Given the description of an element on the screen output the (x, y) to click on. 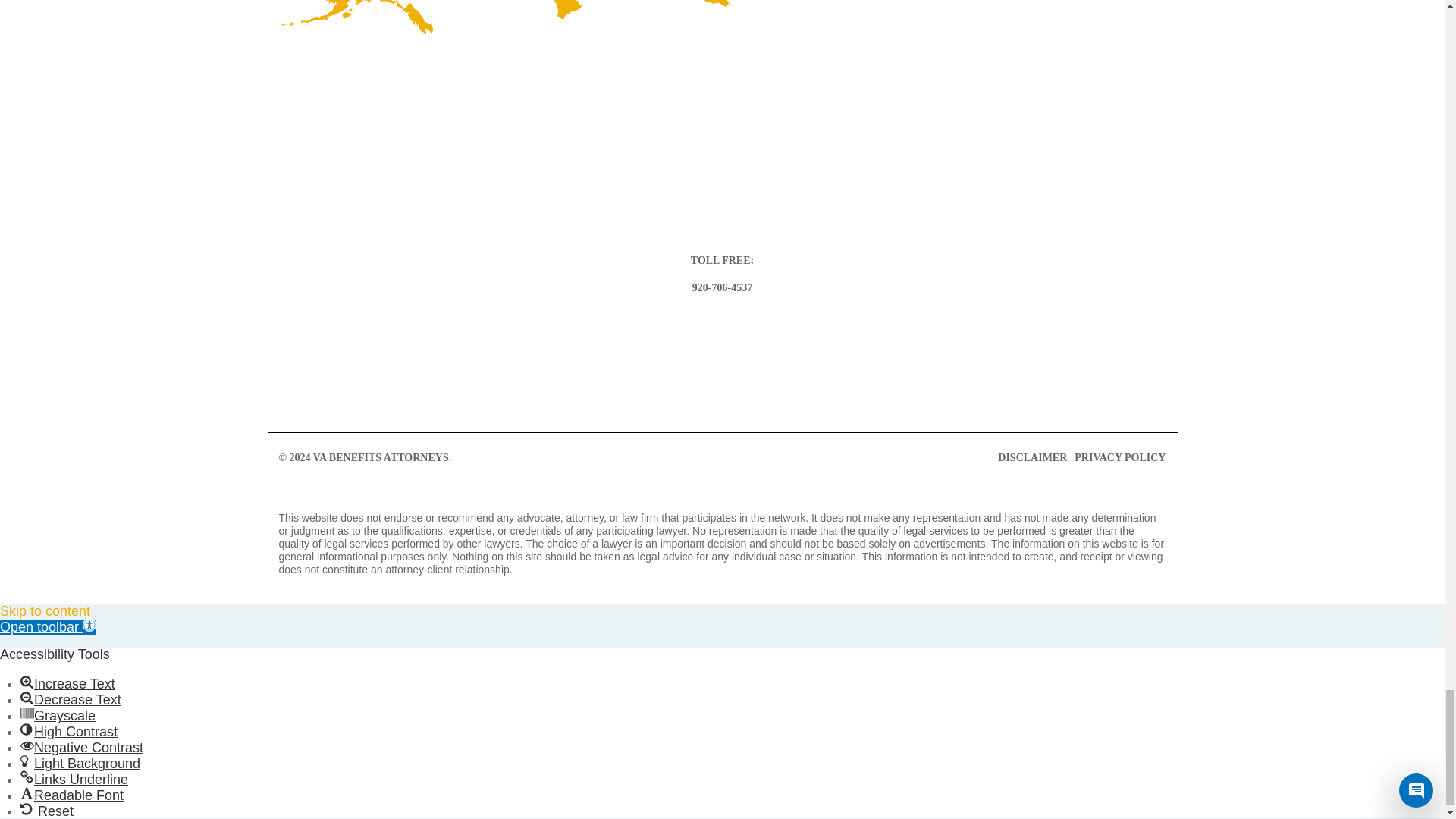
High Contrast (26, 729)
Decrease Text (26, 697)
Readable Font (26, 793)
Accessibility Tools (48, 626)
Negative Contrast (26, 745)
Increase Text (26, 681)
Light Background (26, 761)
Links Underline (26, 776)
Reset (26, 808)
Grayscale (26, 713)
